Given the description of an element on the screen output the (x, y) to click on. 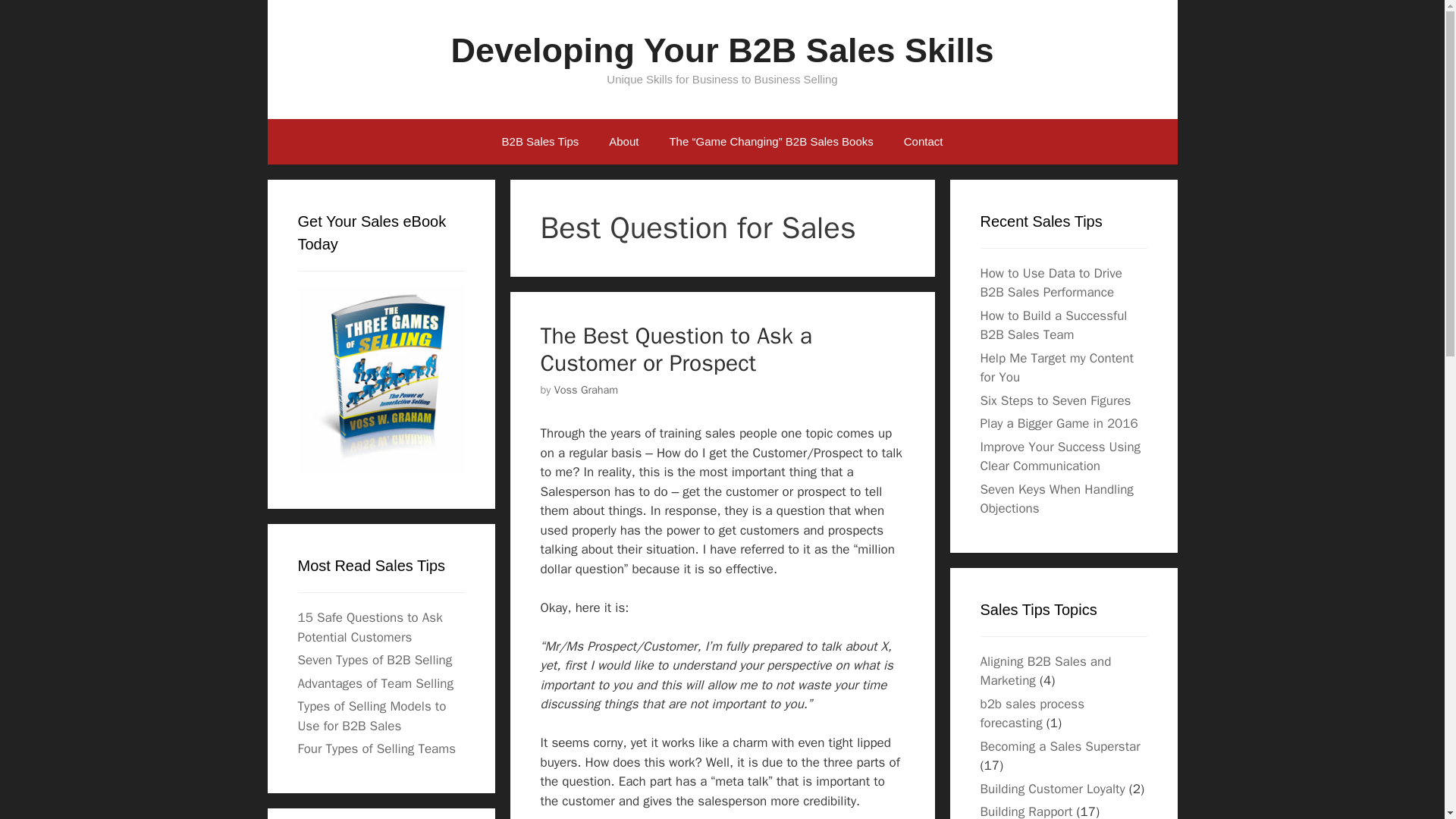
Building Rapport for Strong Relationships (1025, 811)
Four Types of Selling Teams (376, 748)
Advantages of Team Selling (374, 683)
Developing Your B2B Sales Skills (720, 50)
B2B Sales Tips (540, 140)
Seven Types of B2B Selling (374, 659)
Contact (923, 140)
The Best Question to Ask a Customer or Prospect (675, 349)
Four Types of Selling Teams (376, 748)
Seven Types of B2B Selling (374, 659)
